Given the description of an element on the screen output the (x, y) to click on. 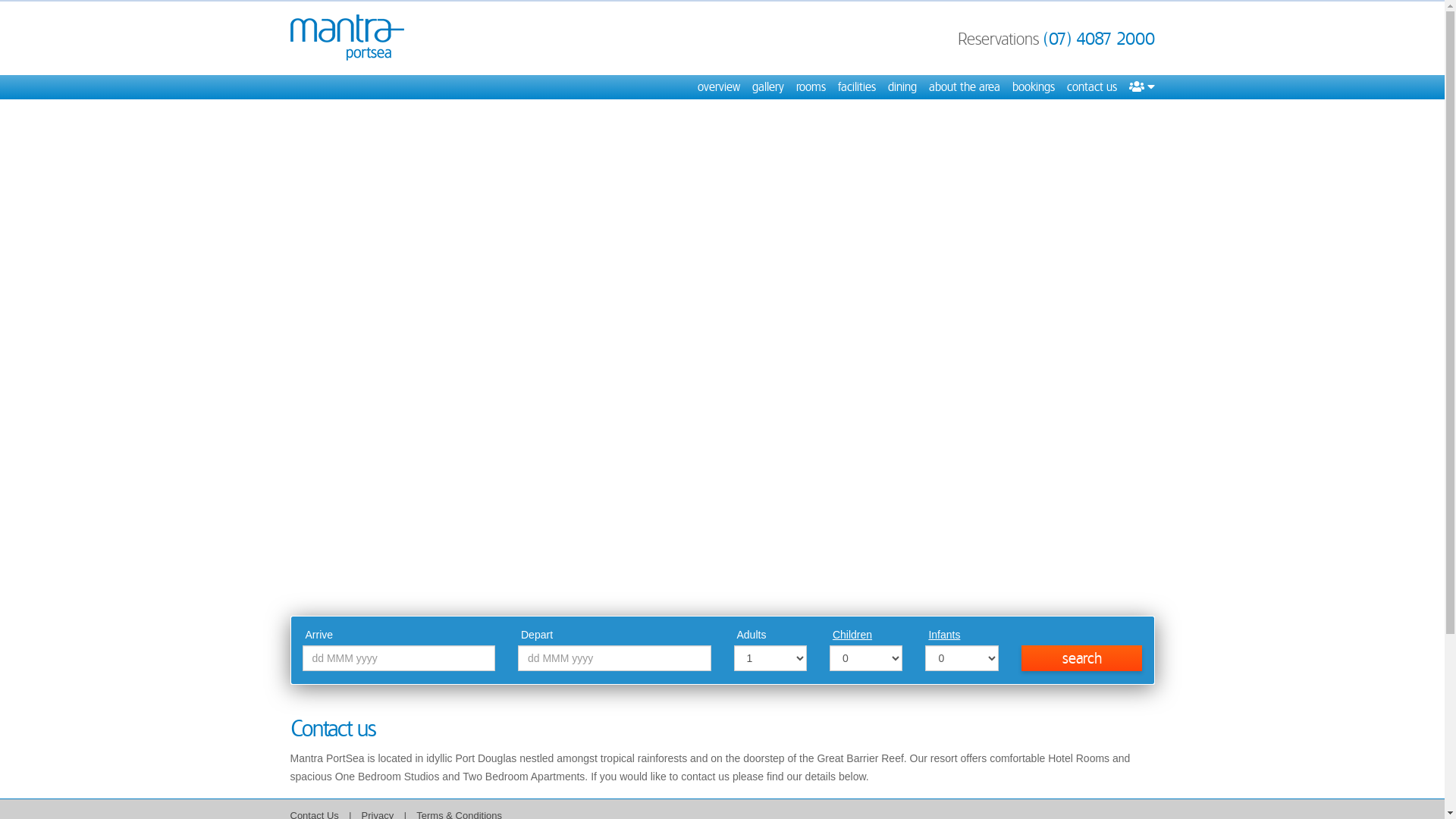
facilities Element type: text (856, 87)
Mantra Portsea Element type: hover (346, 37)
(07) 4087 2000 Element type: text (1098, 38)
overview Element type: text (718, 87)
rooms Element type: text (810, 87)
contact us Element type: text (1091, 87)
dining Element type: text (901, 87)
search Element type: text (1081, 658)
bookings Element type: text (1032, 87)
about the area Element type: text (963, 87)
gallery Element type: text (768, 87)
